Given the description of an element on the screen output the (x, y) to click on. 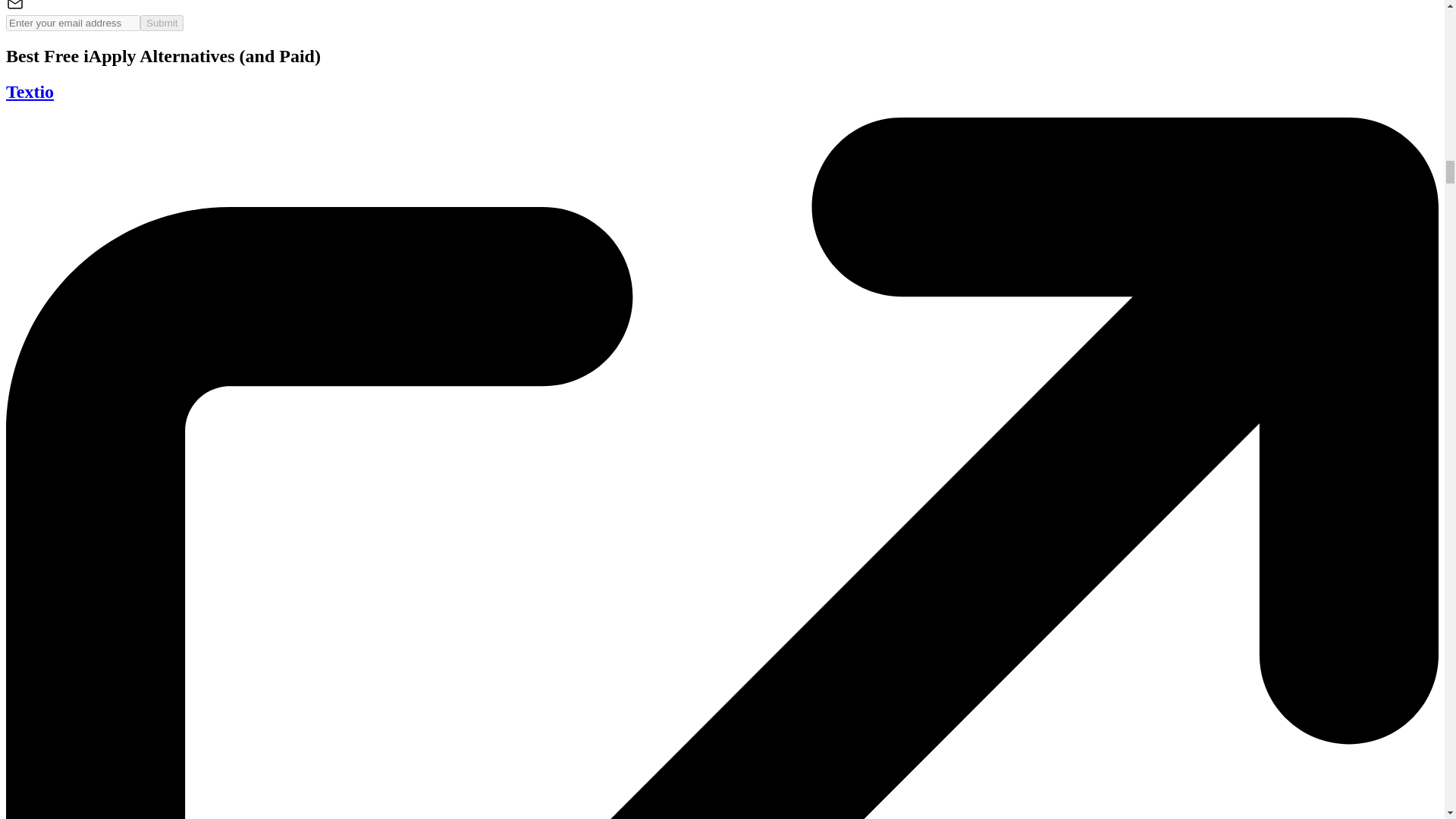
Submit (161, 23)
